Given the description of an element on the screen output the (x, y) to click on. 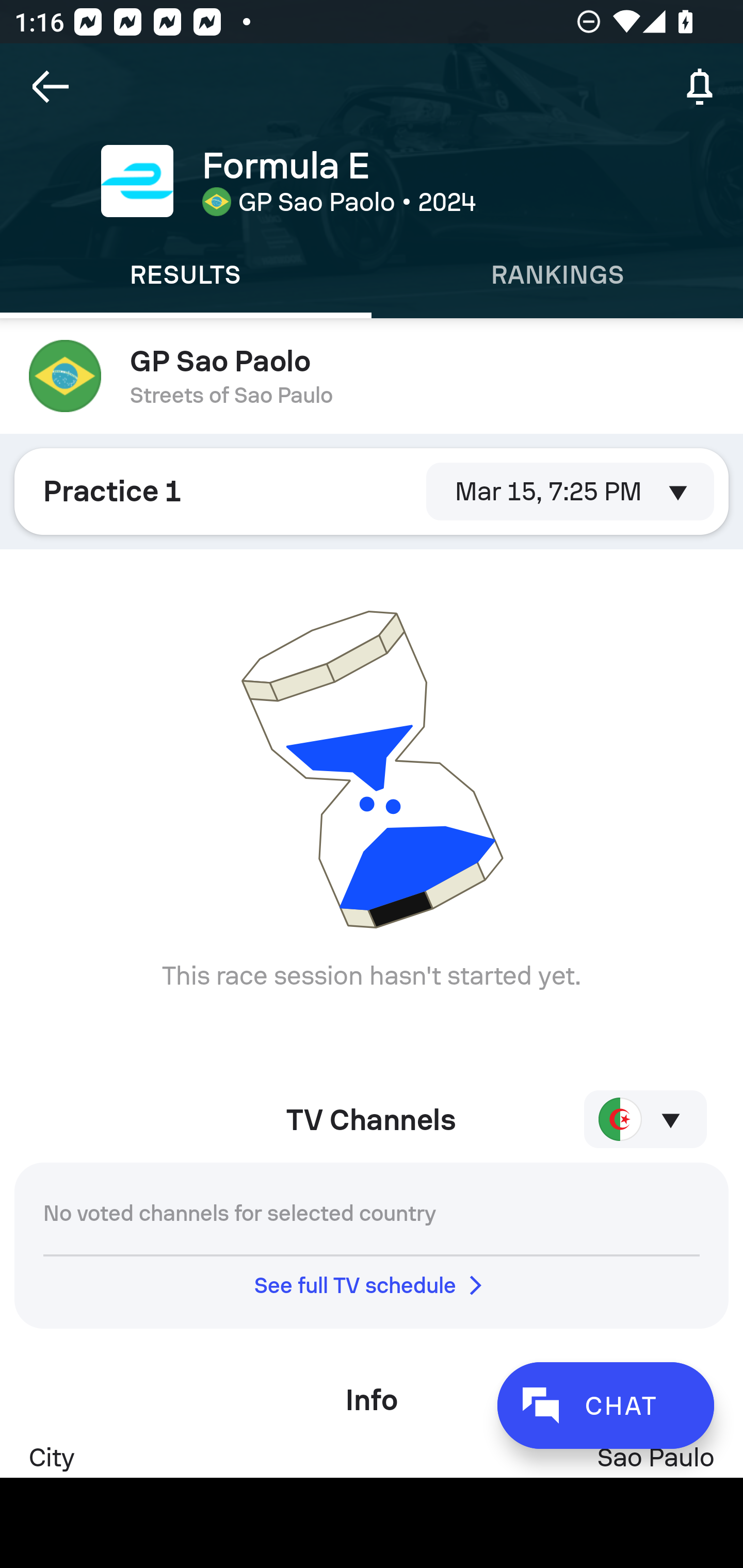
Navigate up (50, 86)
Rankings RANKINGS (557, 275)
Practice 1 Mar 15, 7:25 PM (371, 491)
Mar 15, 7:25 PM (562, 491)
See full TV schedule (371, 1284)
CHAT (605, 1405)
